Given the description of an element on the screen output the (x, y) to click on. 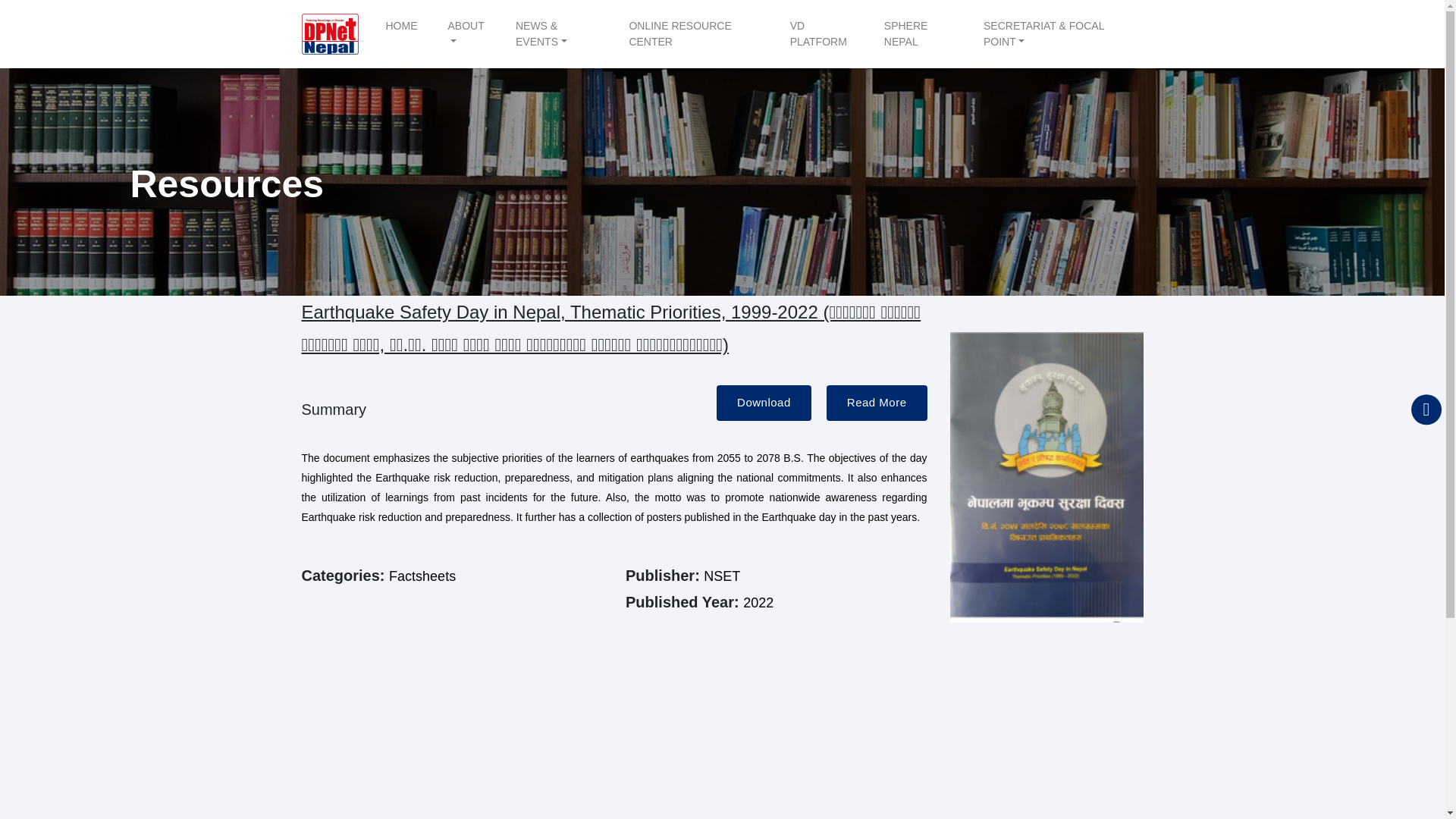
VD PLATFORM (821, 38)
SPHERE NEPAL (918, 38)
HOME (400, 30)
Download (763, 402)
ONLINE RESOURCE CENTER (693, 38)
Read More (877, 402)
